Given the description of an element on the screen output the (x, y) to click on. 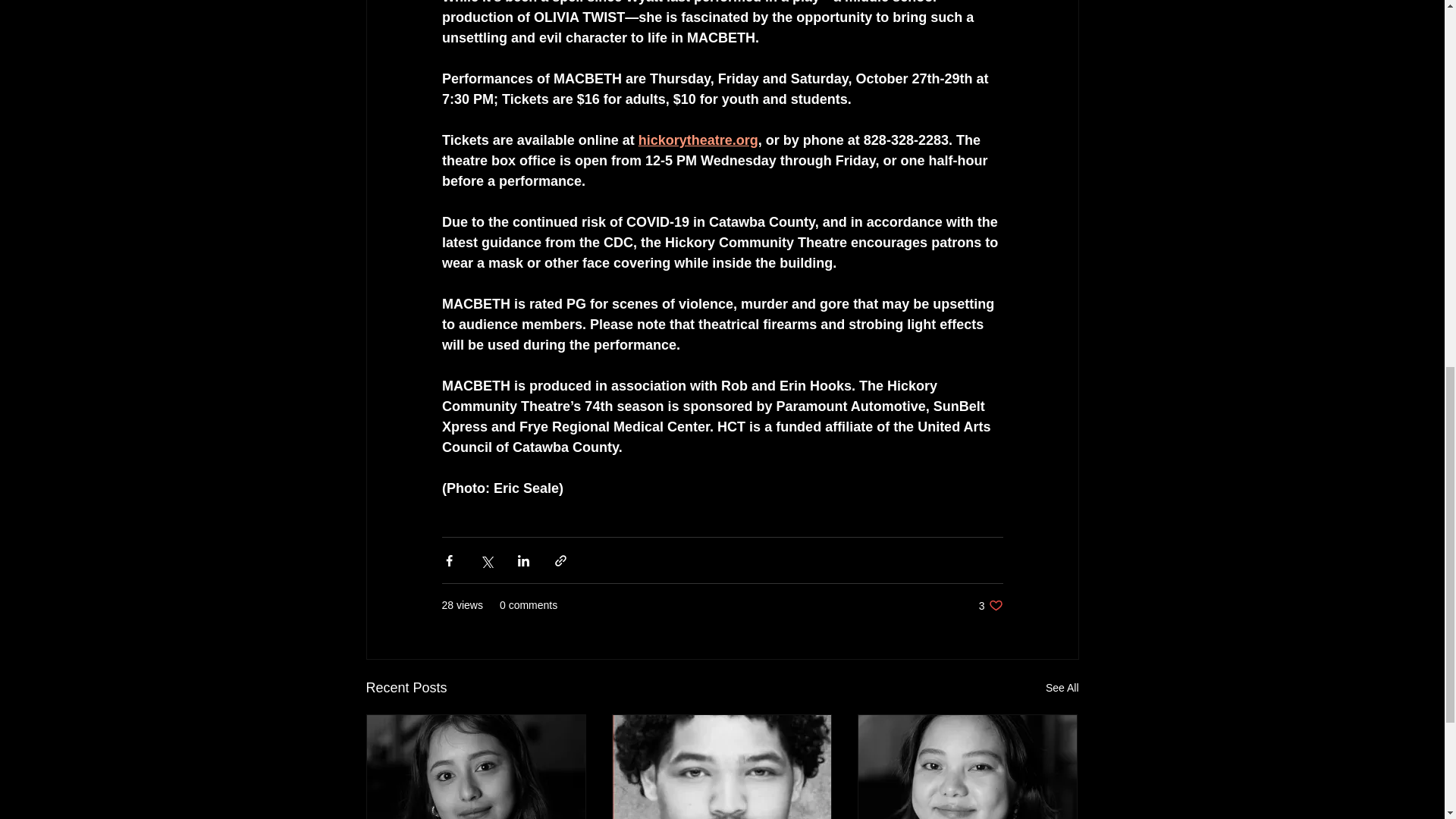
See All (1061, 688)
hickorytheatre.org (697, 140)
